Given the description of an element on the screen output the (x, y) to click on. 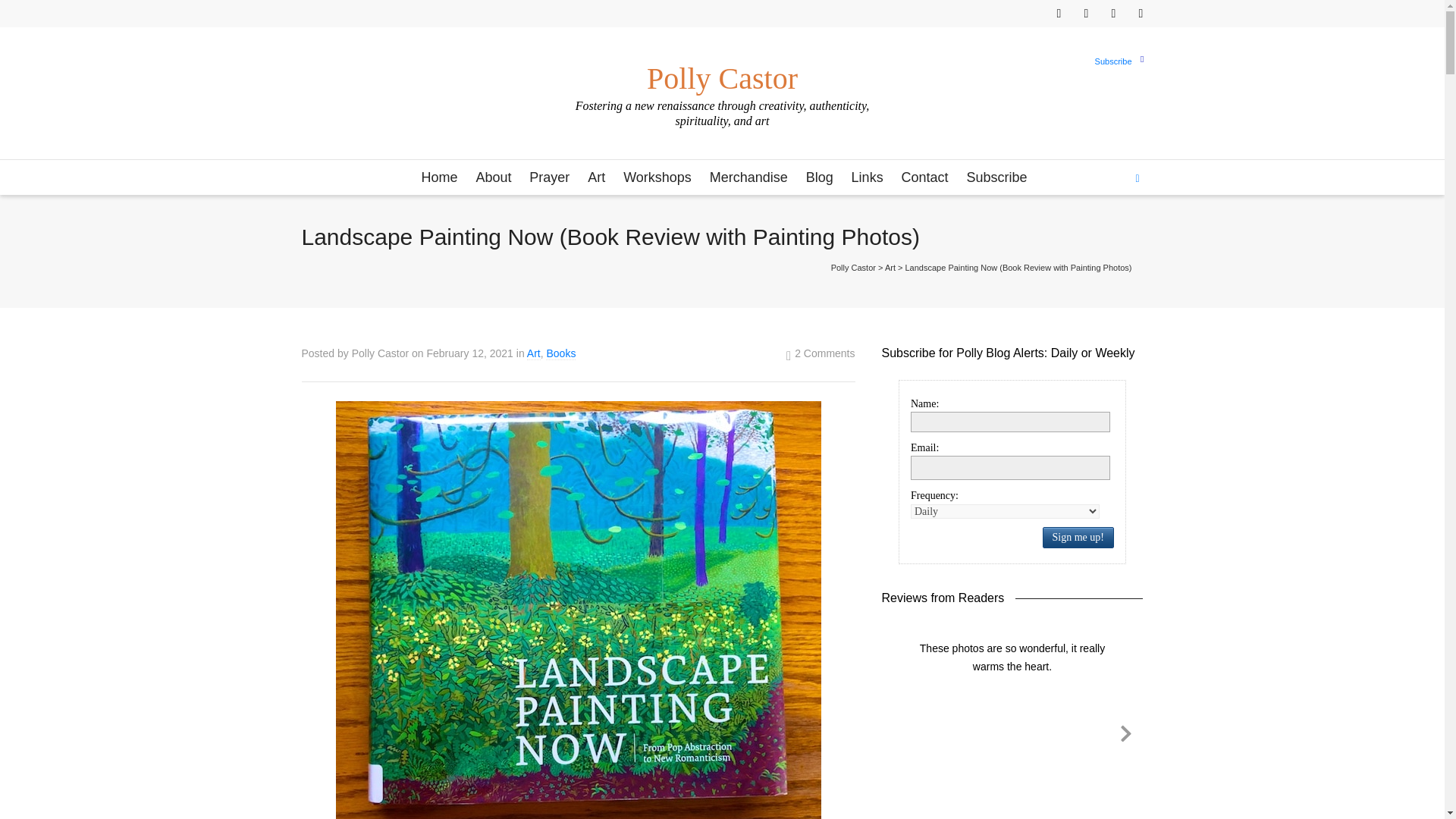
Sign me up! (1086, 281)
Sign me up! (1077, 537)
Merchandise (748, 178)
Home (438, 178)
About (493, 178)
Go to Polly Castor. (853, 266)
Prayer (549, 178)
Polly Castor (721, 71)
Workshops (657, 178)
Subscribe (1113, 61)
Go to the Art Category archives. (890, 266)
